Given the description of an element on the screen output the (x, y) to click on. 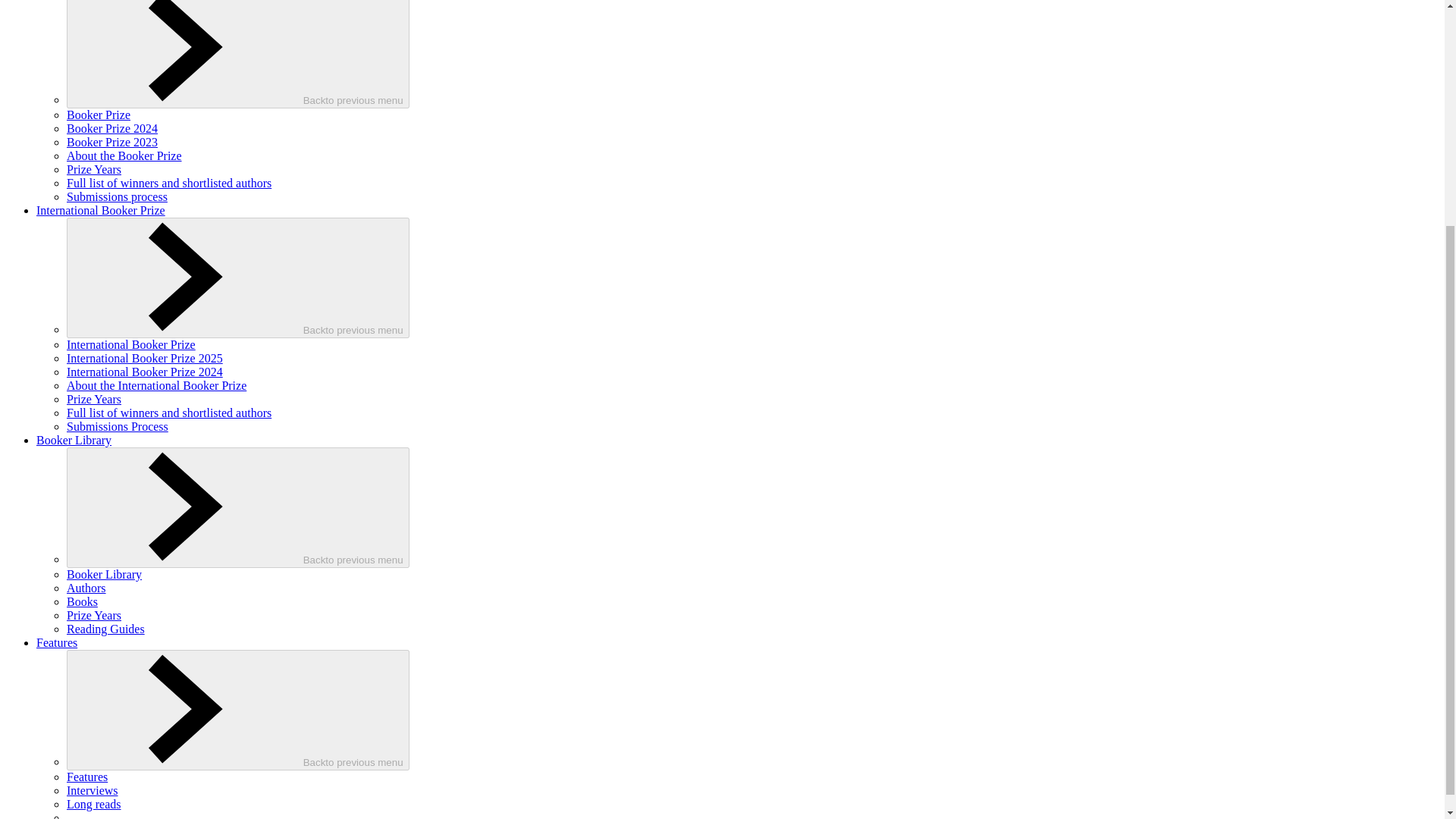
International Booker Prize 2024 (144, 371)
About the International Booker Prize (156, 385)
Submissions process (116, 196)
Booker Prize (98, 114)
Prize Years (93, 615)
Books (81, 601)
Booker Library (103, 574)
Prize Years (93, 169)
Backto previous menu (237, 507)
Authors (86, 587)
Reading Guides (105, 628)
Prize Years (93, 399)
International Booker Prize (130, 344)
Full list of winners and shortlisted authors (168, 412)
Backto previous menu (237, 277)
